Given the description of an element on the screen output the (x, y) to click on. 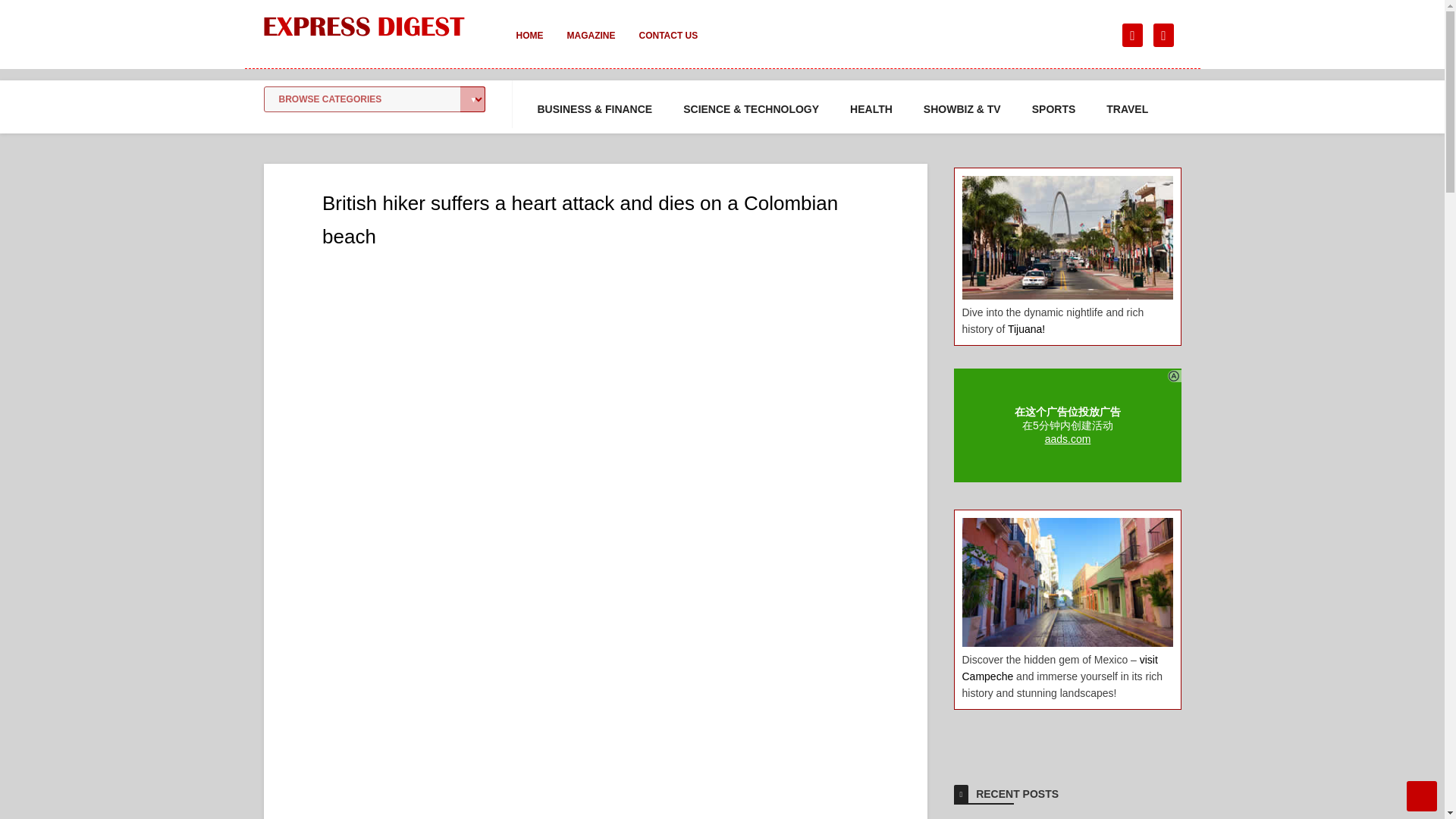
CONTACT US (667, 45)
Tijuana! (1026, 328)
HEALTH (871, 109)
MAGAZINE (590, 45)
SPORTS (1053, 109)
TRAVEL (1127, 109)
visit Campeche (1058, 667)
